Given the description of an element on the screen output the (x, y) to click on. 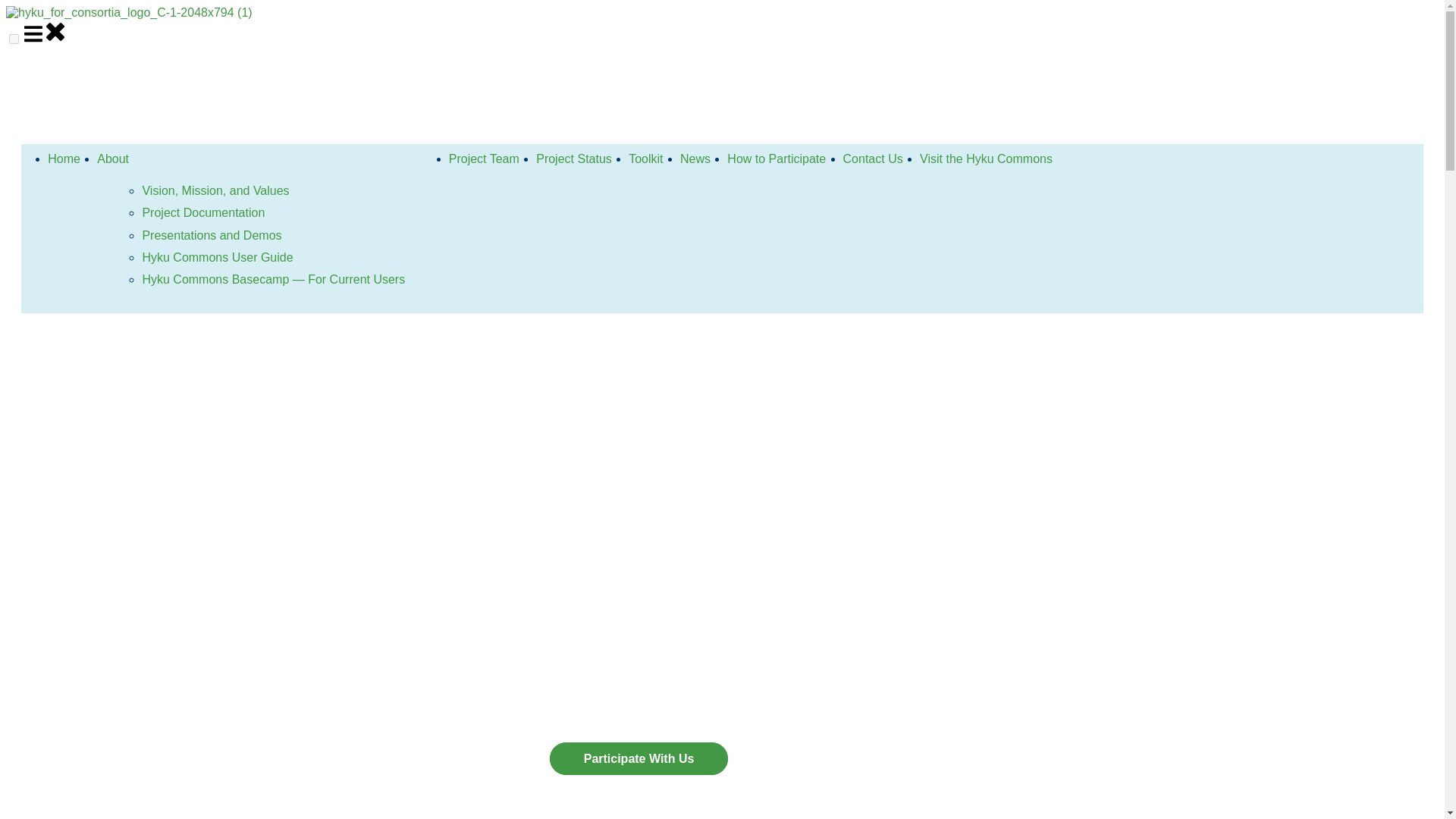
News (694, 158)
About (113, 158)
Vision, Mission, and Values (214, 190)
Project Status (573, 158)
Project Documentation (202, 212)
Participate With Us (639, 758)
Presentations and Demos (211, 235)
Home (64, 158)
Visit the Hyku Commons (986, 158)
Hyku Commons User Guide (216, 256)
Contact Us (872, 158)
Close main menu (55, 31)
on (13, 39)
Project Team (483, 158)
Toolkit (645, 158)
